Given the description of an element on the screen output the (x, y) to click on. 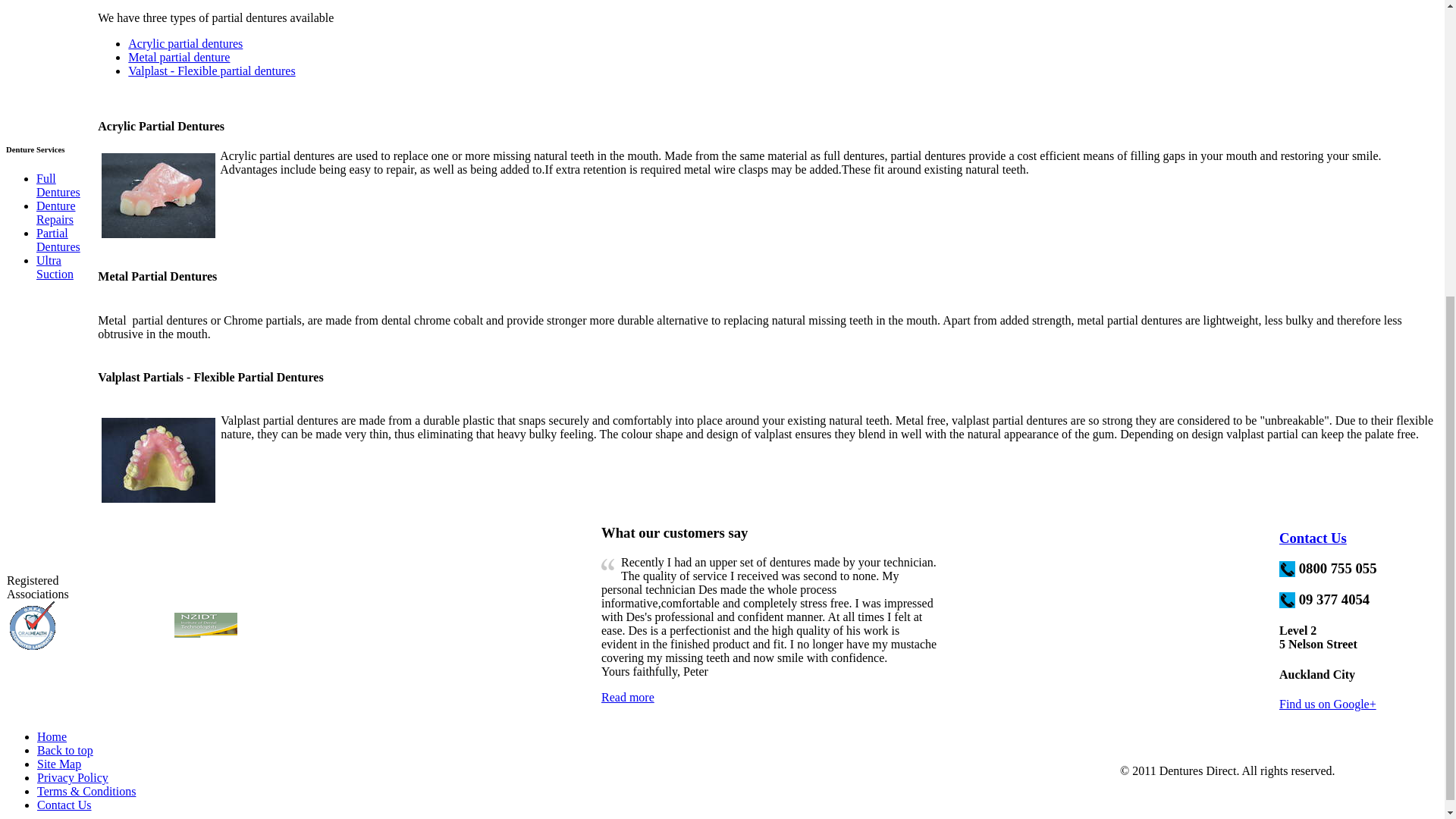
Accredited Lab (32, 625)
Read more (627, 697)
Full Dentures (58, 185)
Acrylic Partial Dentures (160, 125)
Valplast Denture (158, 459)
Ultra Suction (55, 266)
Back to top (65, 749)
Contact Us (1312, 537)
Acrylic Partial Denture (158, 195)
Metal partial denture (179, 56)
Acrylic partial dentures (185, 42)
Site Map (59, 763)
Valplast Partials - Flexible Partial Dentures (210, 377)
Valplast - Flexible partial dentures (211, 70)
NZIDT (205, 625)
